Given the description of an element on the screen output the (x, y) to click on. 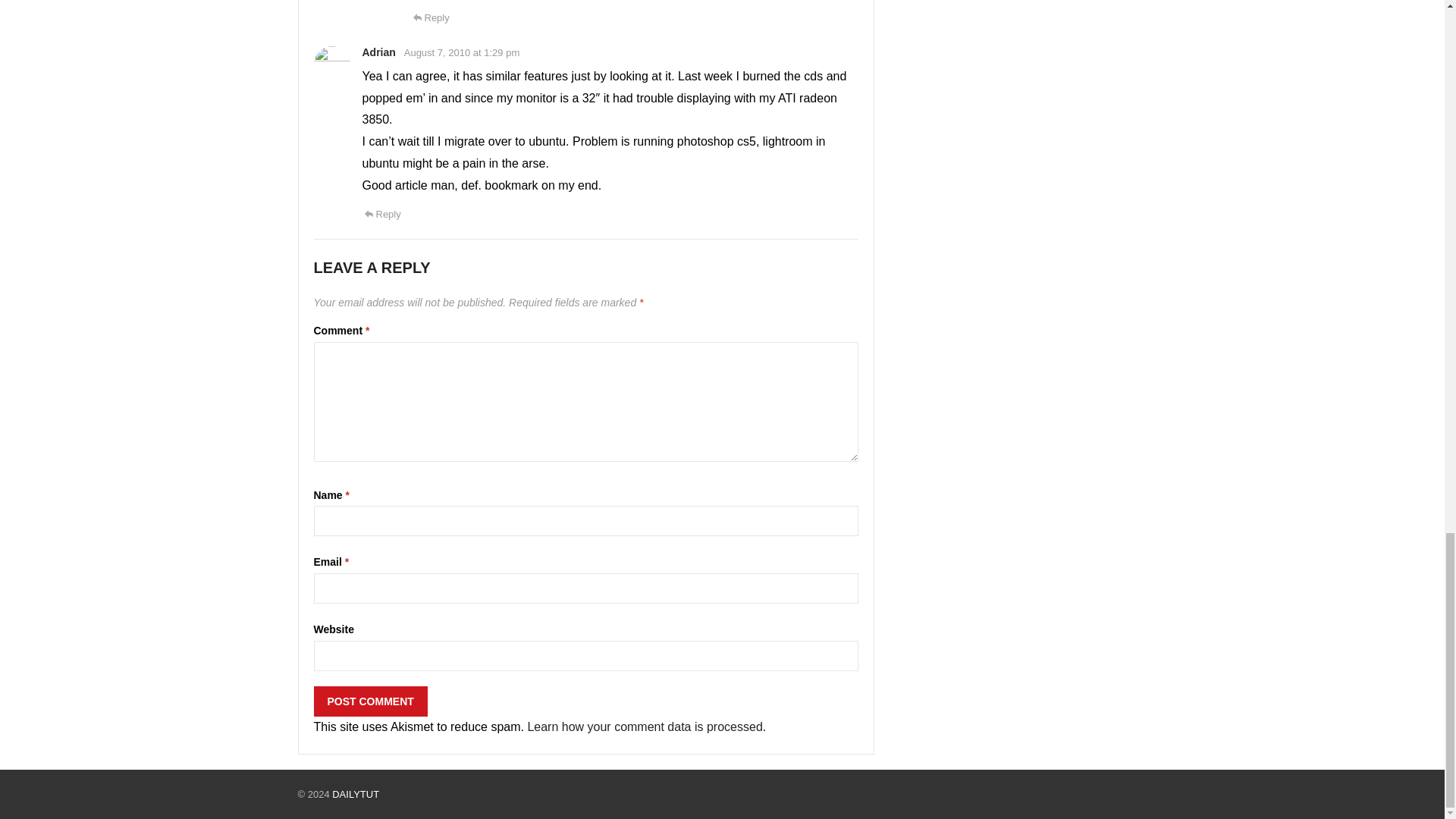
Post Comment (371, 701)
